Given the description of an element on the screen output the (x, y) to click on. 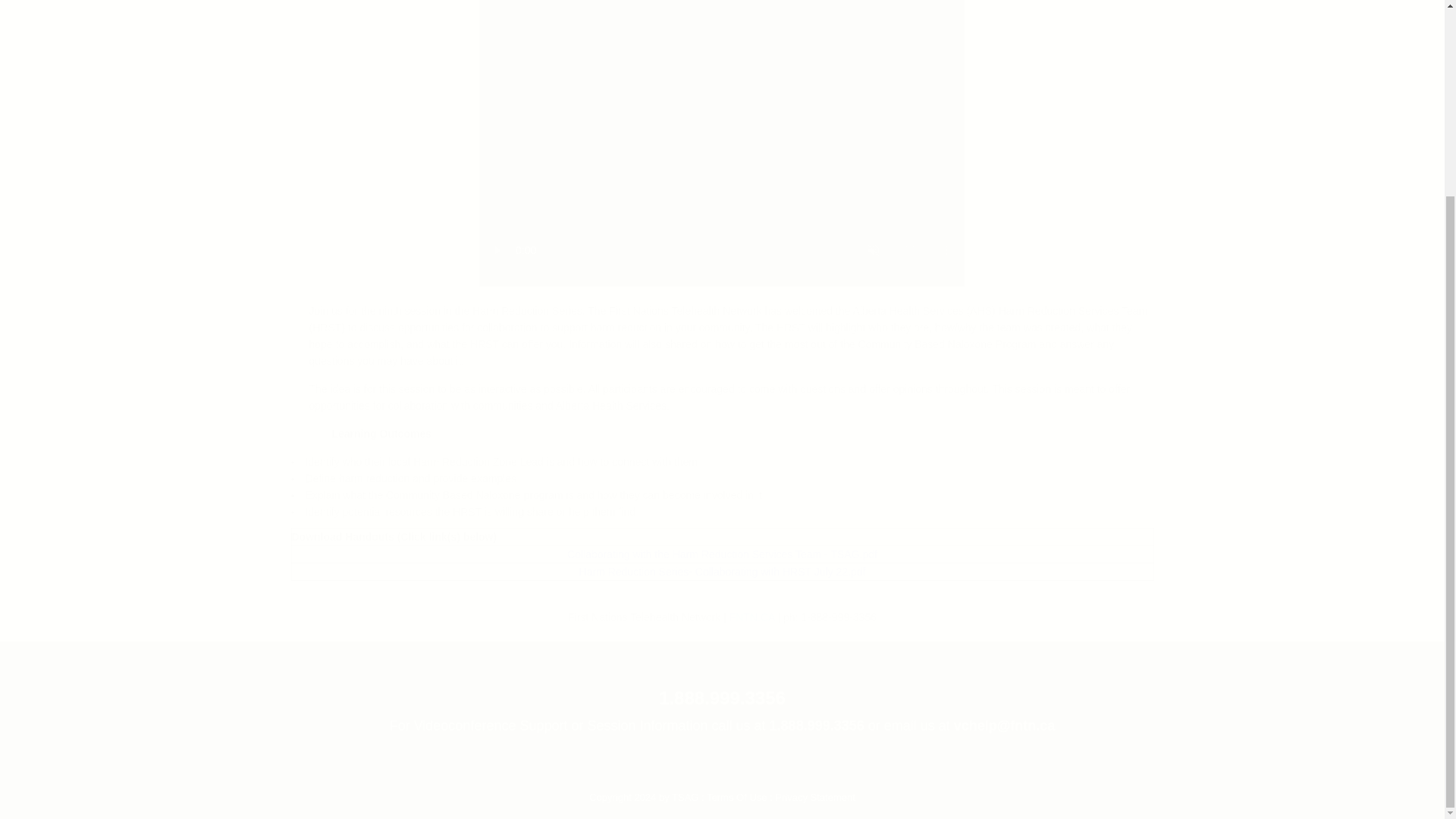
Harm Reduction Series- Collaborating with HRST July 22.pdf (722, 571)
FNTN.CA (751, 616)
